Given the description of an element on the screen output the (x, y) to click on. 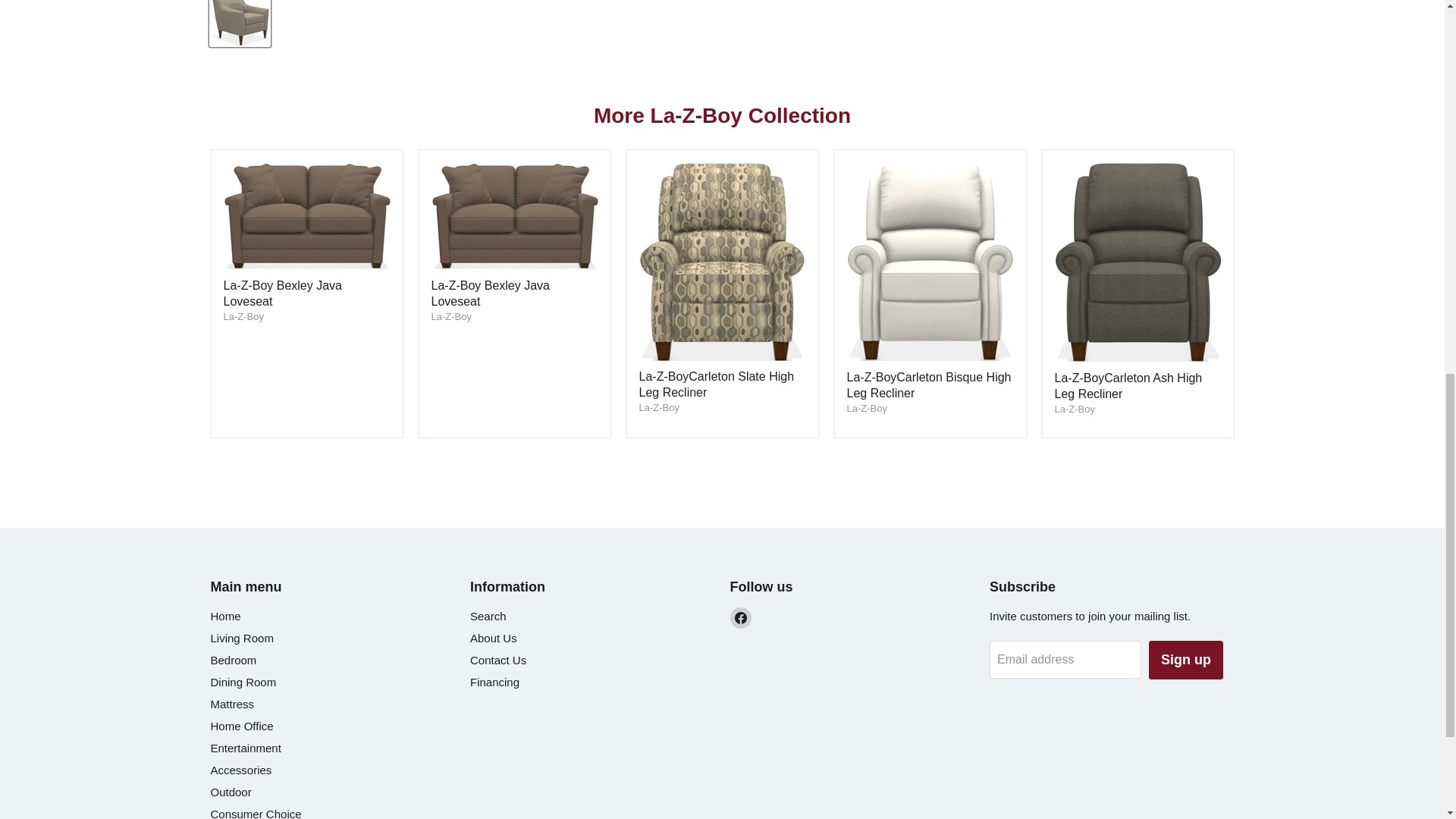
La-Z-Boy (865, 408)
La-Z-Boy (450, 316)
Facebook (740, 617)
La-Z-Boy (1074, 408)
La-Z-Boy (658, 407)
La-Z-Boy (242, 316)
